Given the description of an element on the screen output the (x, y) to click on. 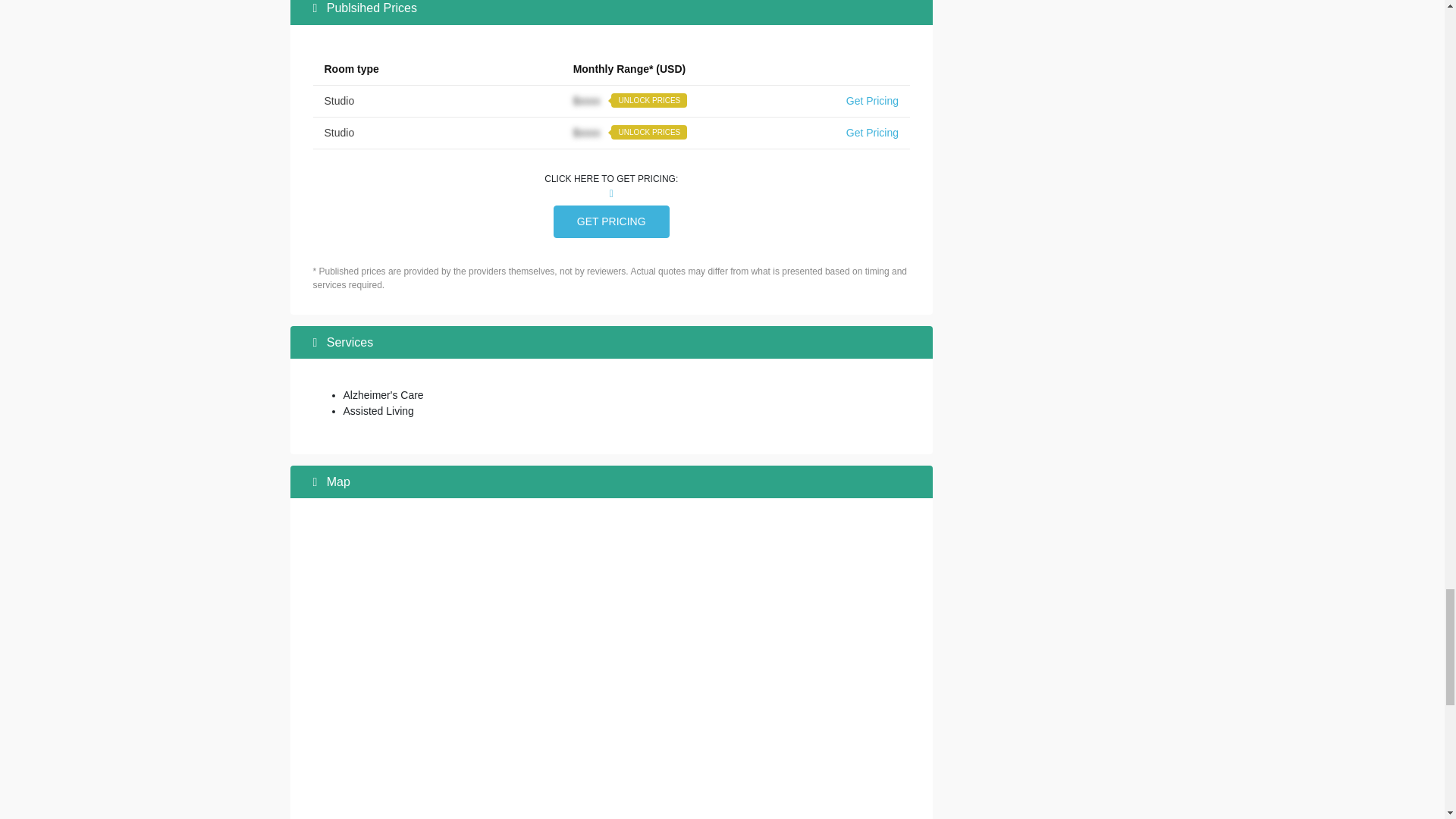
Get Pricing (871, 101)
UNLOCK PRICES (649, 100)
Get Pricing (871, 132)
UNLOCK PRICES (649, 132)
GET PRICING (611, 221)
